Given the description of an element on the screen output the (x, y) to click on. 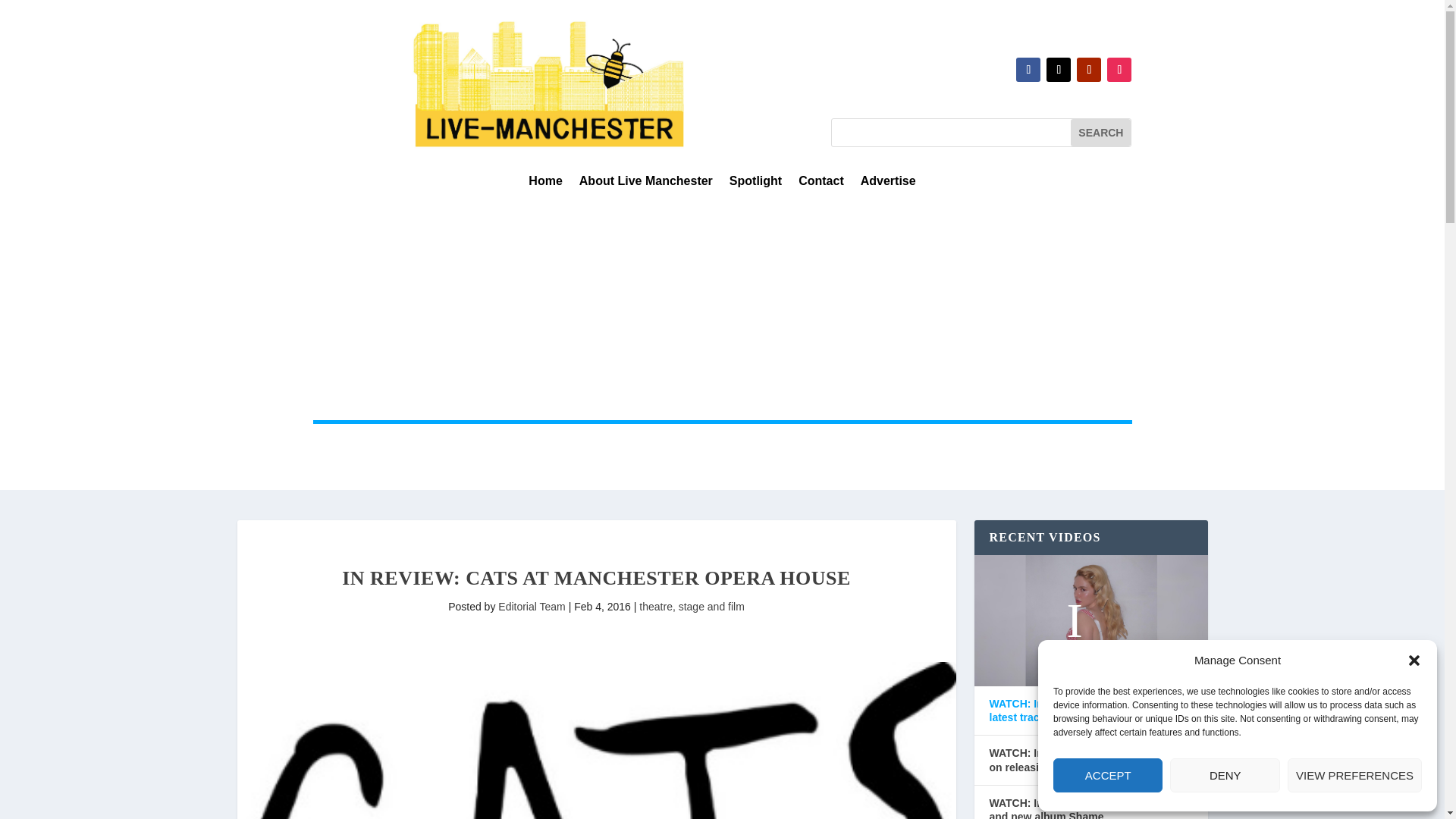
ACCEPT (1106, 775)
Follow on Instagram (1118, 69)
Home (545, 184)
DENY (1224, 775)
Follow on X (1058, 69)
Search (1100, 132)
Follow on Youtube (1088, 69)
Posts by Editorial Team (530, 606)
About Live Manchester (646, 184)
Advertise (887, 184)
